Given the description of an element on the screen output the (x, y) to click on. 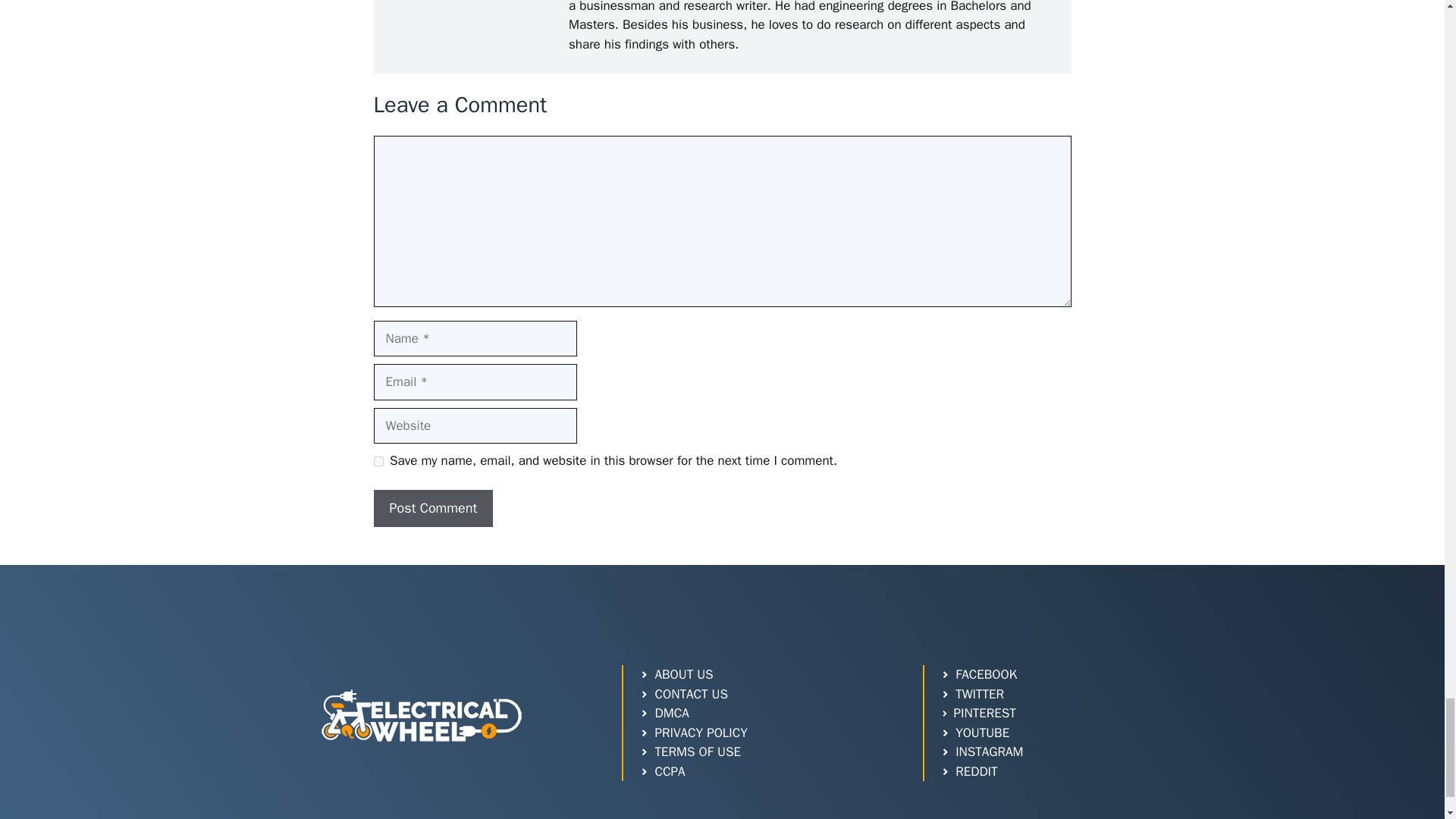
DMCA (663, 713)
CONTACT US (683, 694)
TERMS OF USE (690, 752)
INSTAGRAM (981, 752)
FACEBOOK (978, 674)
PRIVACY POLICY (693, 732)
TWITTER (972, 694)
CCPA (661, 772)
ABOUT US (676, 674)
Post Comment (432, 508)
